Given the description of an element on the screen output the (x, y) to click on. 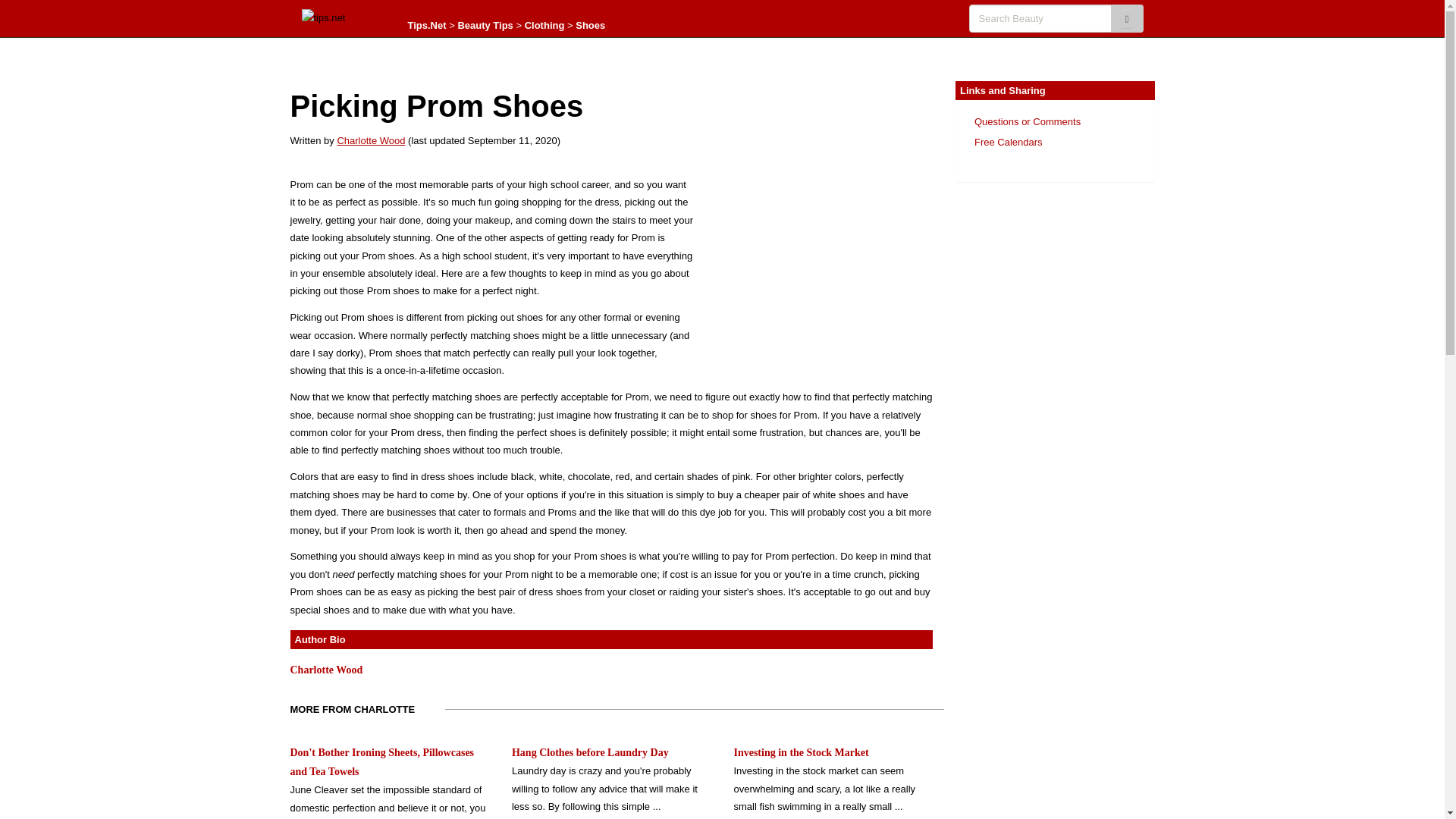
Tips.Net (426, 25)
Charlotte Wood (370, 140)
Clothing (544, 25)
Shoes (590, 25)
Beauty Tips (484, 25)
Free Calendars (1008, 142)
Questions or Comments (1027, 120)
